Given the description of an element on the screen output the (x, y) to click on. 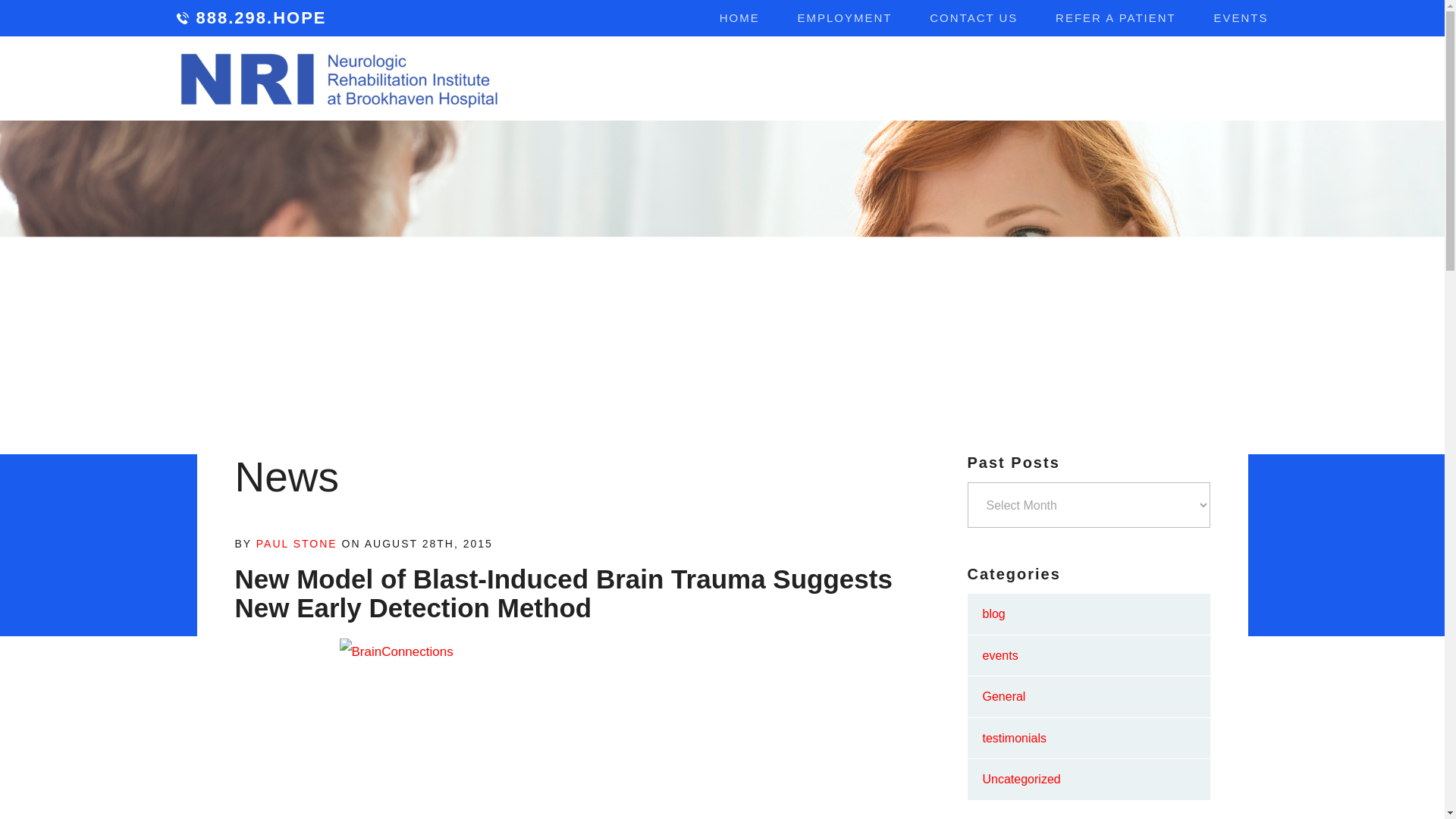
EMPLOYMENT (844, 17)
Posts by Paul Stone (296, 542)
PROGRAMS (770, 80)
EVENTS (1240, 17)
Go (1245, 79)
ADMISSIONS PROCESS (1134, 80)
REFER A PATIENT (1115, 17)
ABOUT US (654, 80)
CONTACT US (973, 17)
888.298.HOPE (251, 18)
HOME (739, 17)
